Given the description of an element on the screen output the (x, y) to click on. 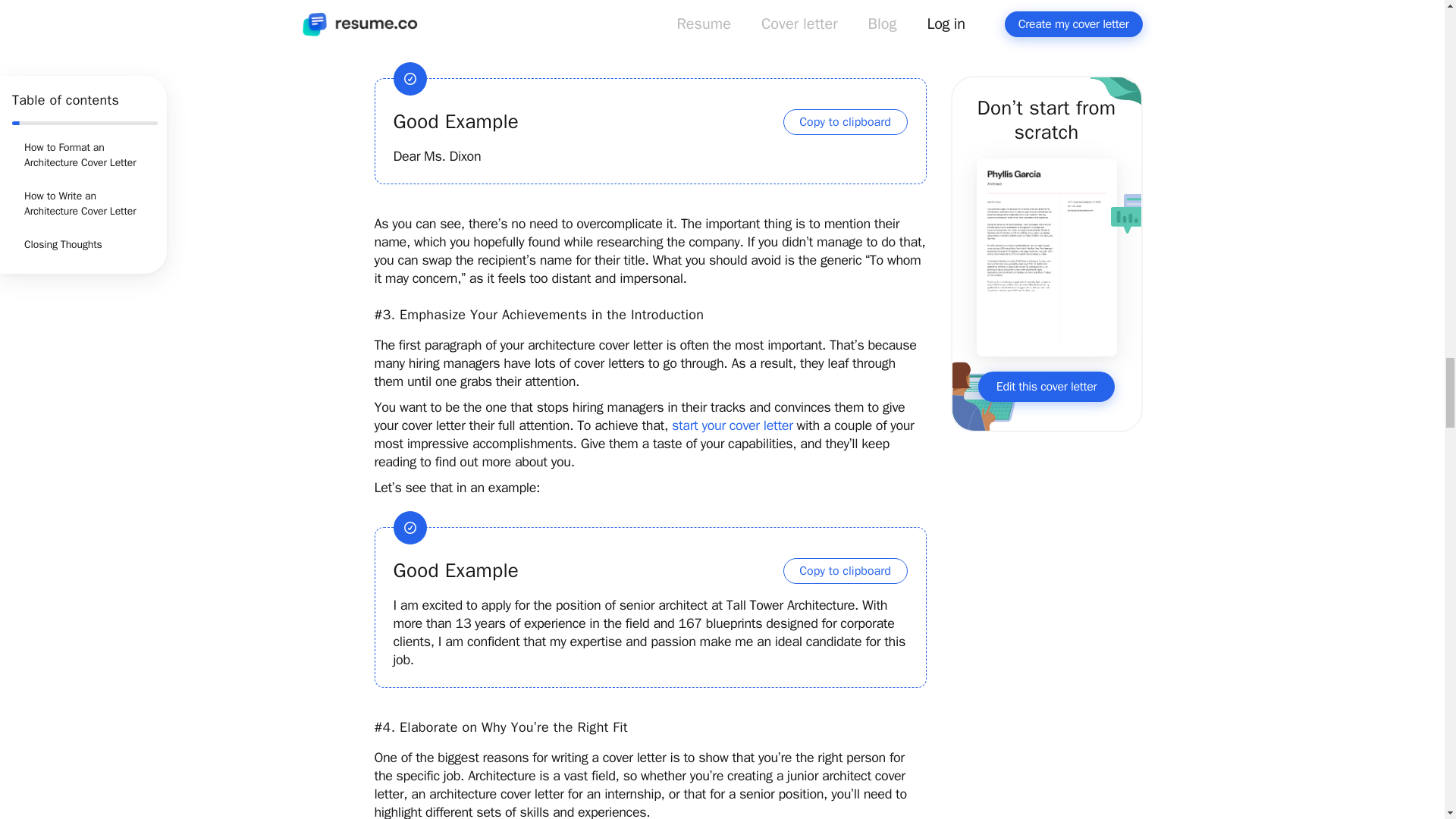
start your cover letter (732, 425)
Copy to clipboard (845, 121)
Copy to clipboard (845, 570)
